Given the description of an element on the screen output the (x, y) to click on. 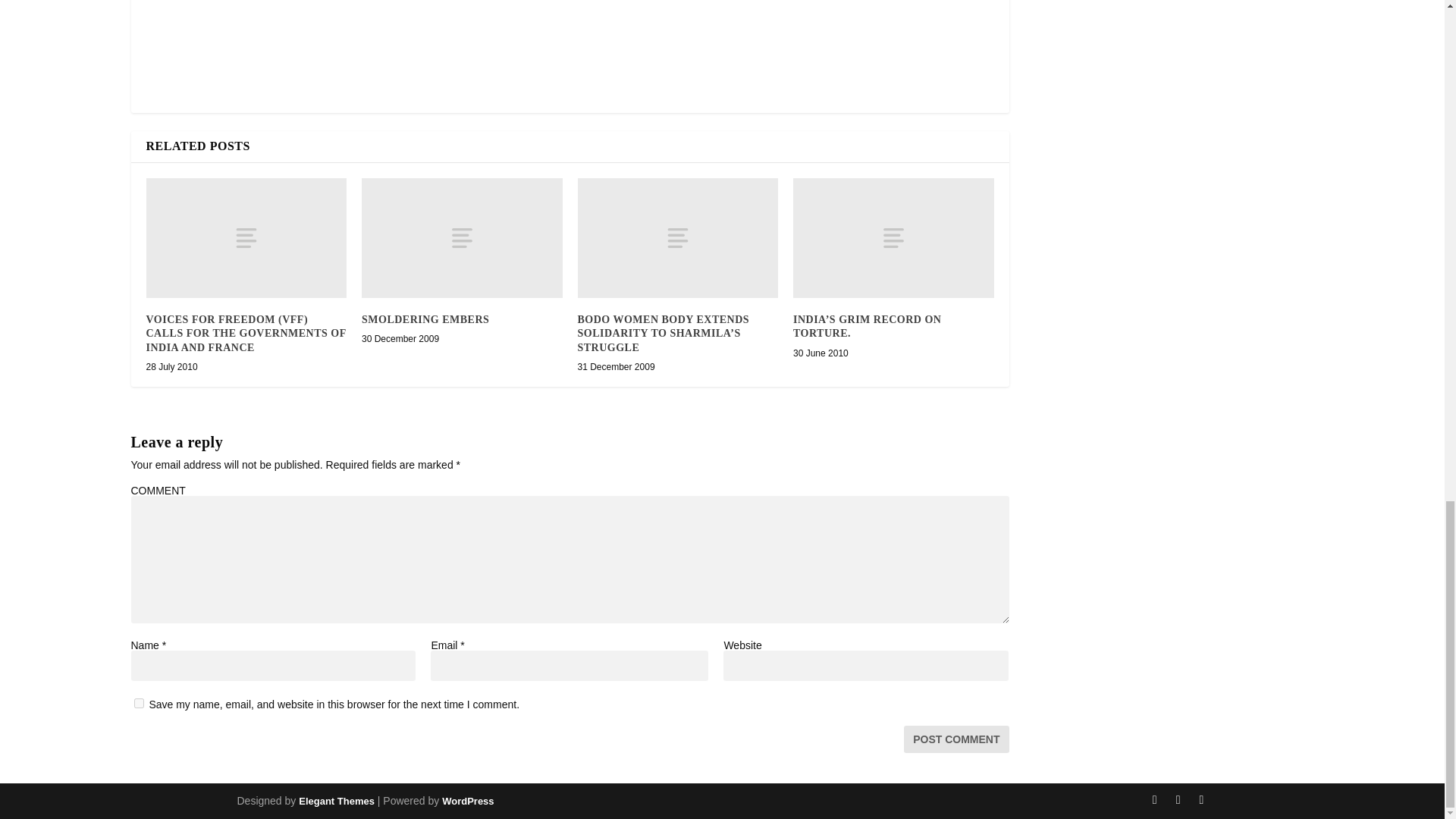
Post Comment (956, 738)
yes (137, 703)
Post Comment (956, 738)
SMOLDERING EMBERS (425, 319)
